Given the description of an element on the screen output the (x, y) to click on. 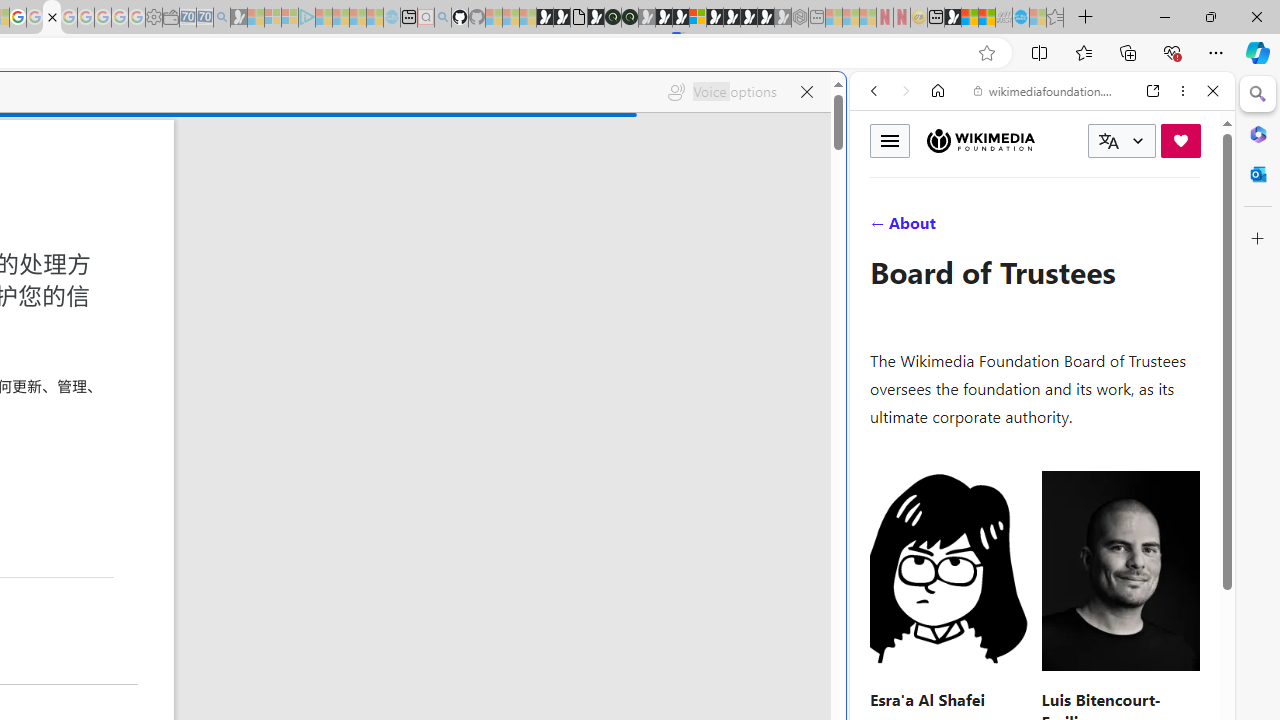
Voice options (721, 92)
Earth has six continents not seven, radical new study claims (986, 17)
Wikimedia Foundation (980, 140)
